Given the description of an element on the screen output the (x, y) to click on. 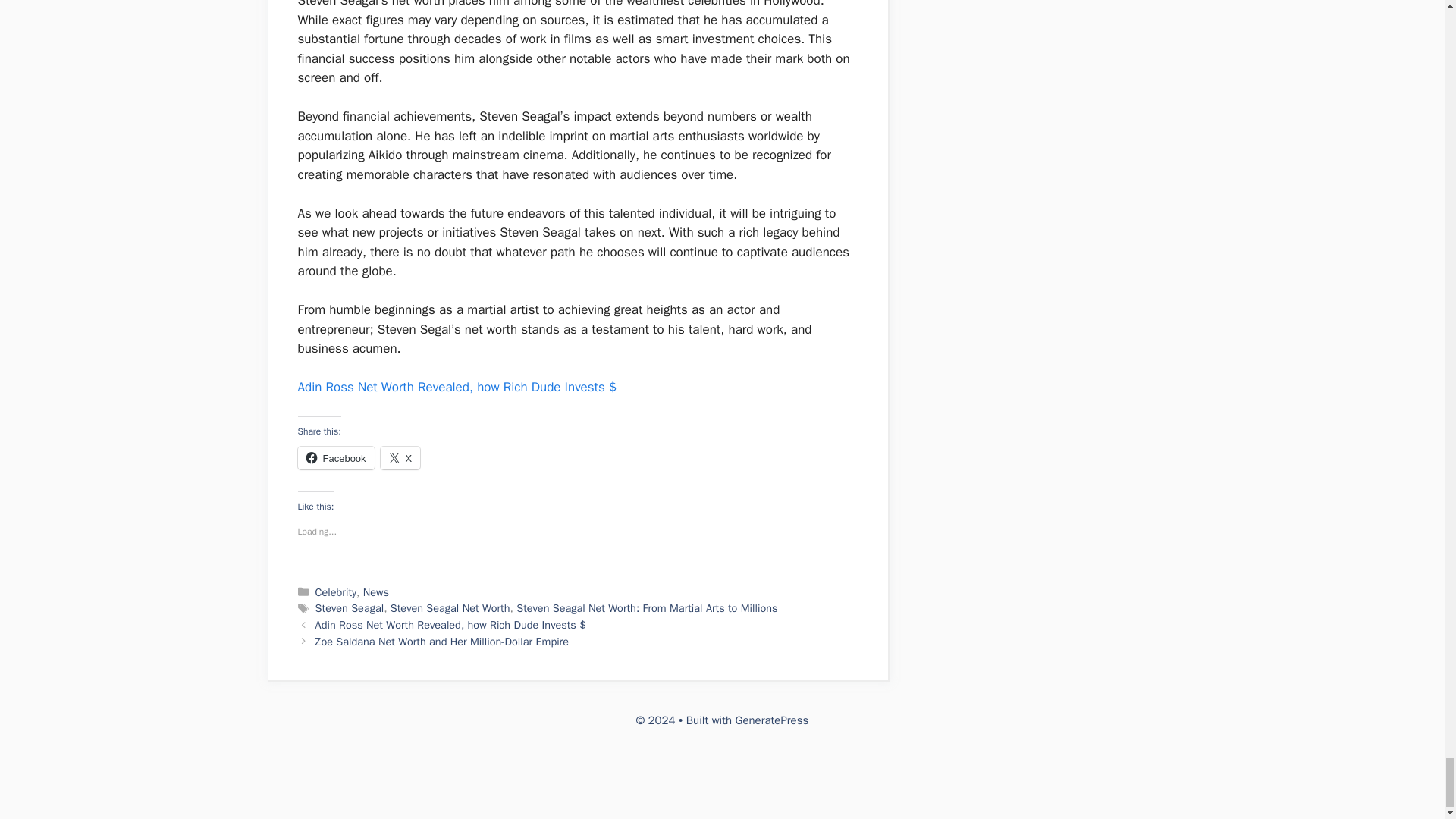
X (400, 457)
Facebook (335, 457)
Click to share on Facebook (335, 457)
Click to share on X (400, 457)
